Given the description of an element on the screen output the (x, y) to click on. 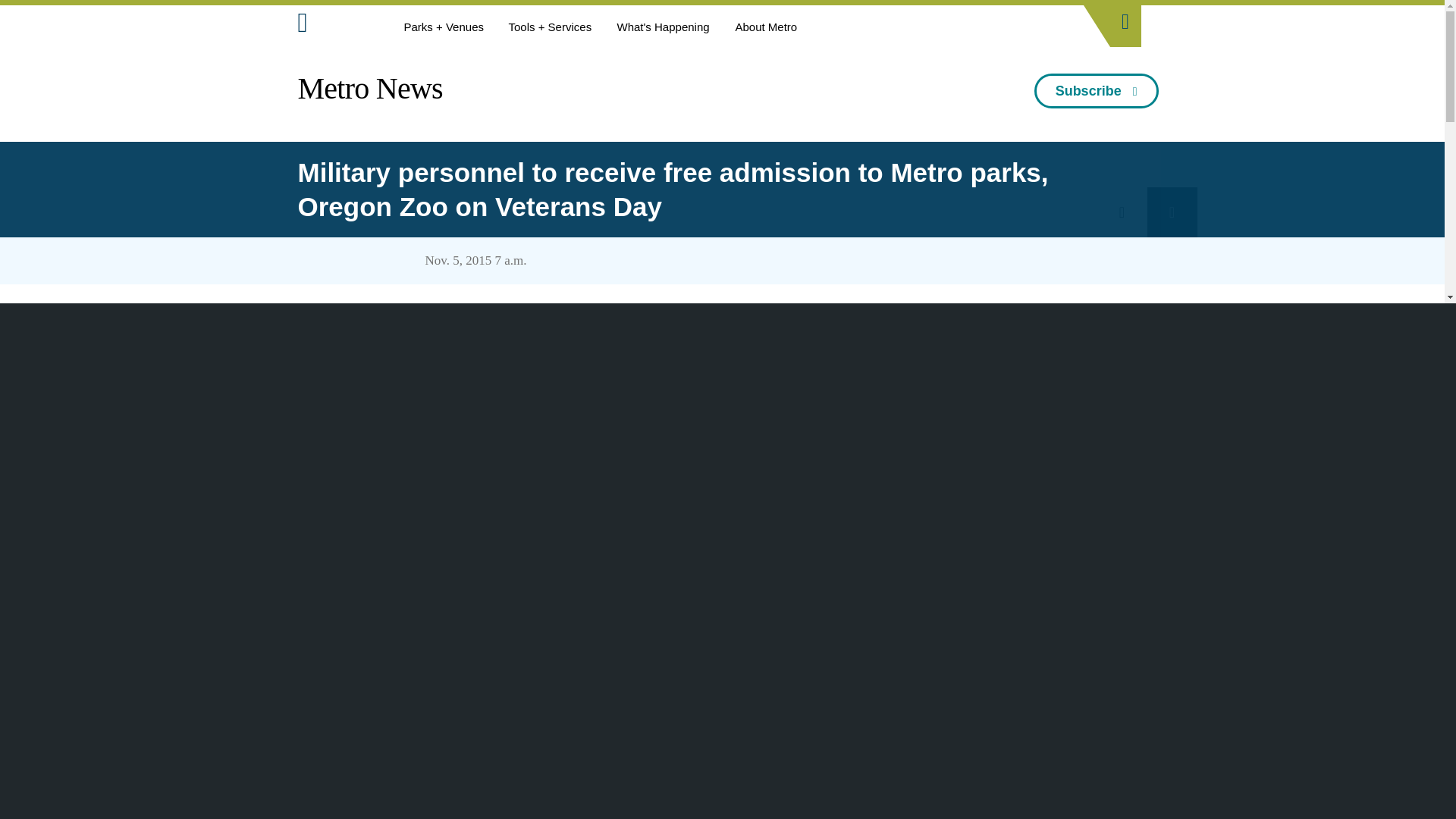
Metro (335, 25)
